Given the description of an element on the screen output the (x, y) to click on. 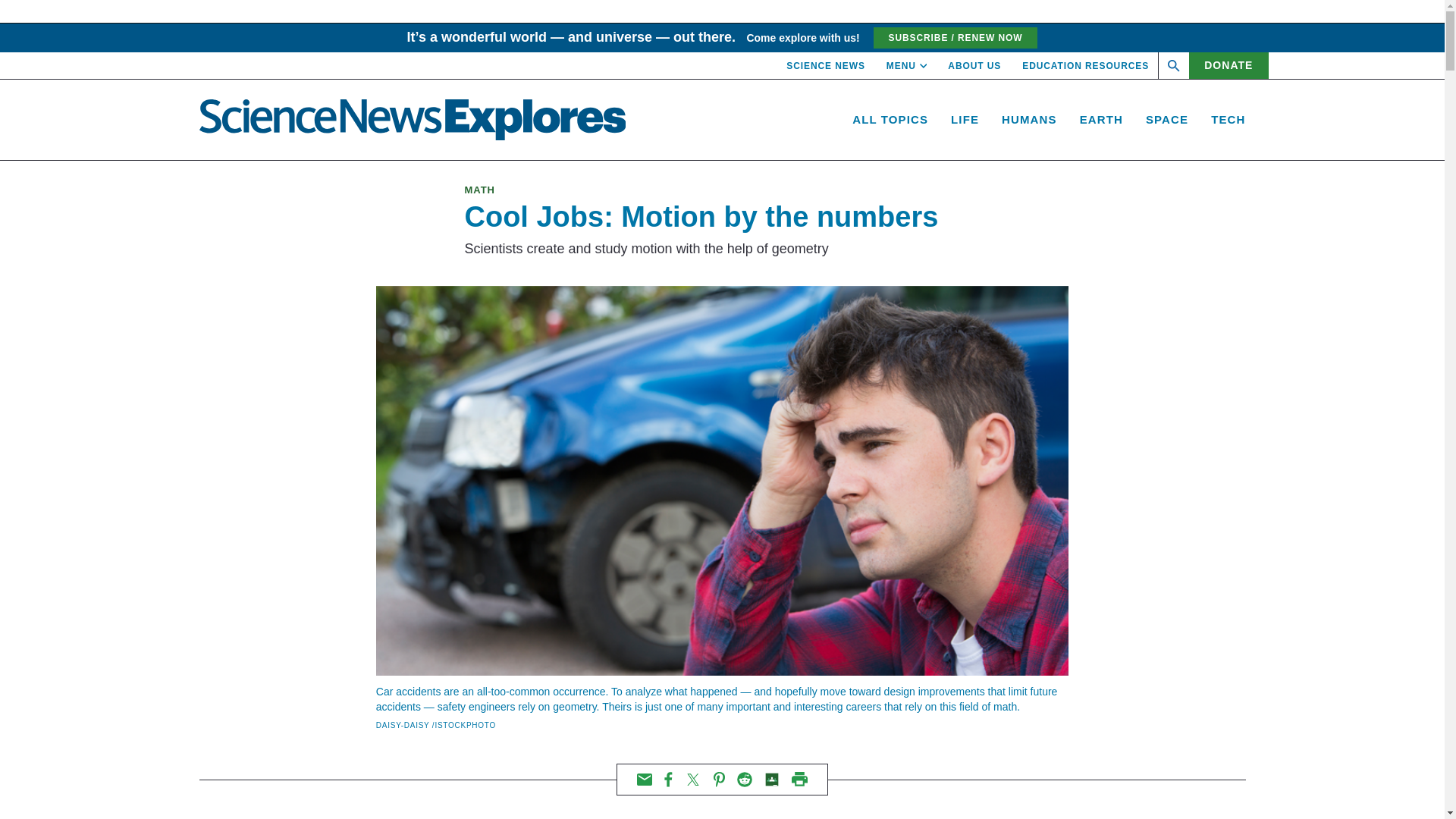
SCIENCE NEWS (825, 65)
EDUCATION RESOURCES (1085, 65)
DONATE (1228, 65)
ABOUT US (974, 65)
ALL TOPICS (889, 119)
MENU (906, 65)
Science News Explores (412, 119)
Share via email (644, 779)
Open search (1173, 65)
